Given the description of an element on the screen output the (x, y) to click on. 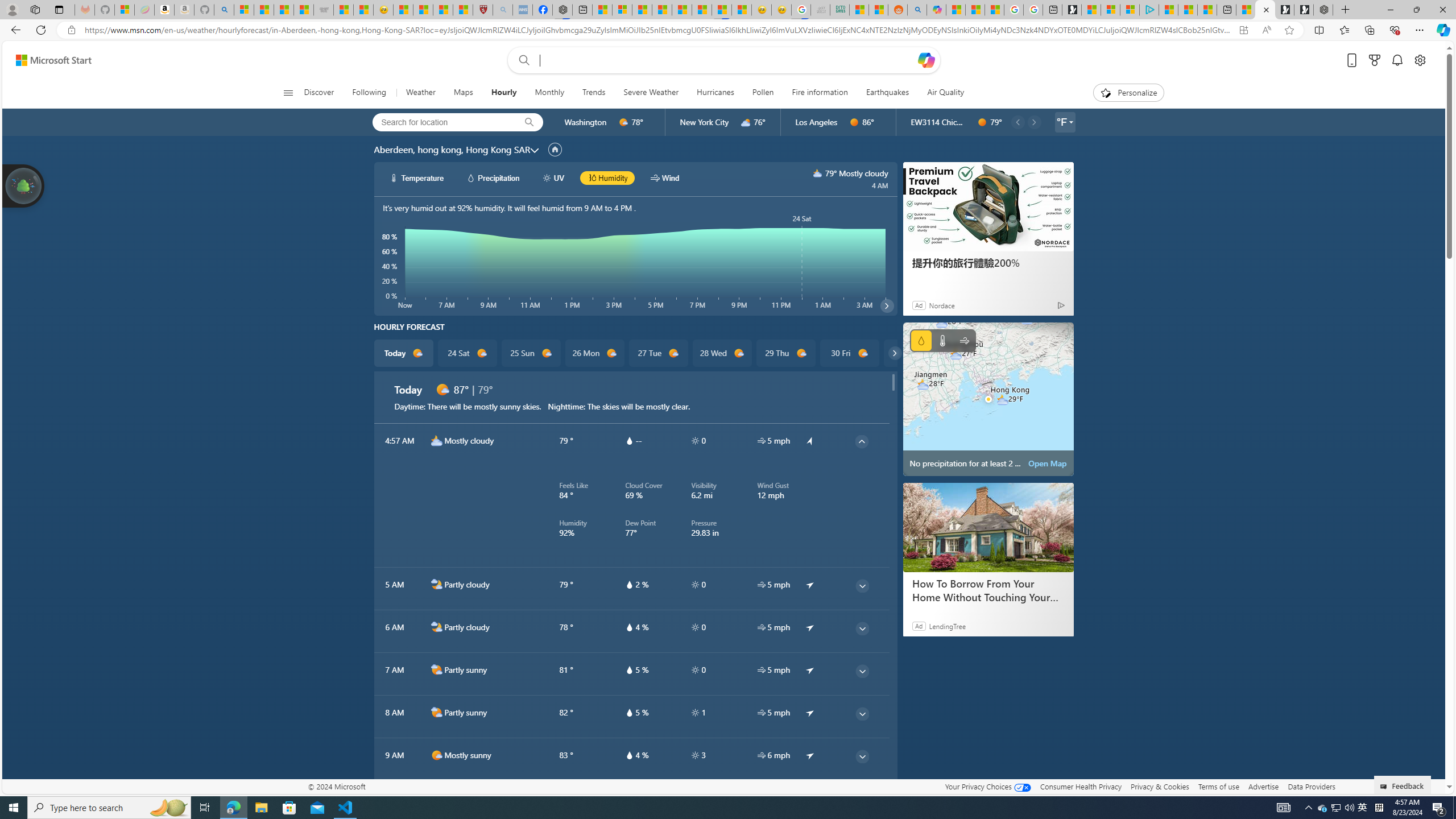
n2000 (436, 627)
Fire information (820, 92)
Robert H. Shmerling, MD - Harvard Health (482, 9)
Hurricanes (715, 92)
31 Sat d1000 (913, 352)
common/arrow (809, 797)
d3000 (746, 121)
hourlyChart/precipitationWhite Precipitation (493, 178)
